Given the description of an element on the screen output the (x, y) to click on. 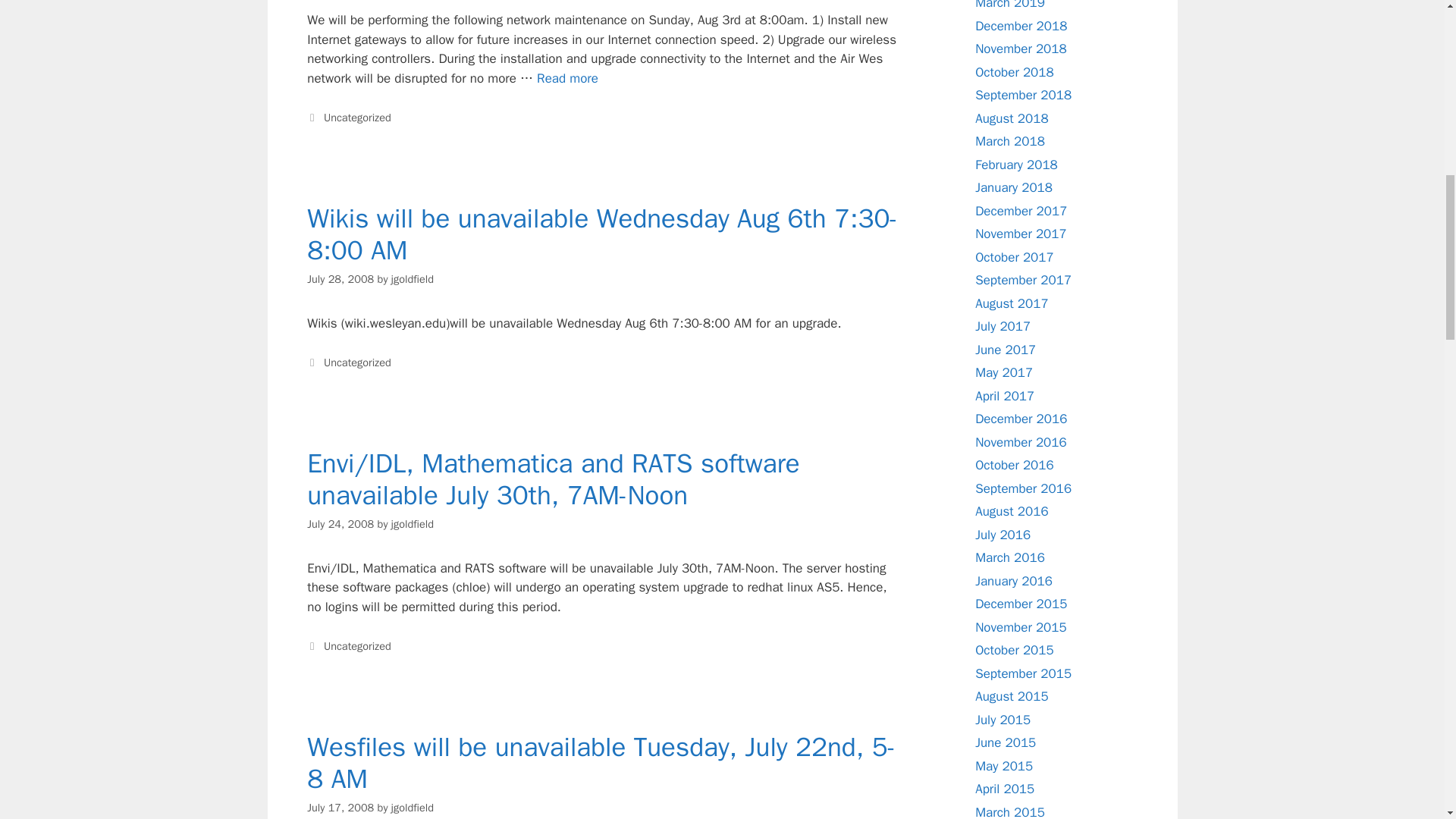
View all posts by jgoldfield (412, 523)
jgoldfield (412, 278)
View all posts by jgoldfield (412, 278)
Wikis will be unavailable Wednesday Aug 6th 7:30-8:00 AM (602, 233)
Read more (567, 78)
View all posts by jgoldfield (412, 807)
ITS Network Maintenance (567, 78)
Uncategorized (357, 117)
